Given the description of an element on the screen output the (x, y) to click on. 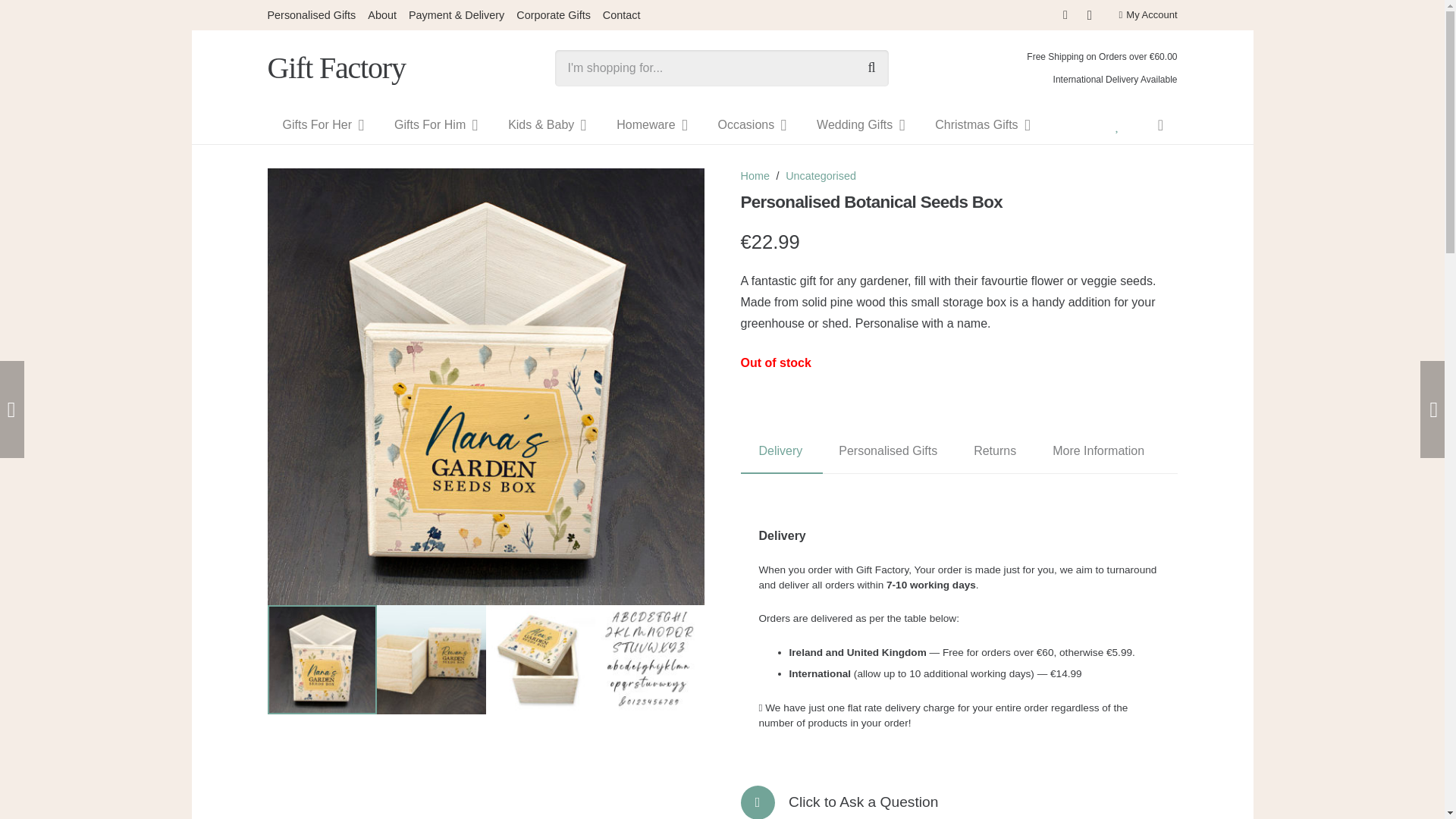
Facebook (1064, 15)
Contact (764, 802)
Contact (621, 15)
About (382, 15)
Gifts For Her (322, 125)
Contact (863, 802)
Personalised Gifts (310, 15)
My Account (1147, 14)
Gift Factory (335, 67)
Instagram (1089, 15)
Corporate Gifts (553, 15)
